Given the description of an element on the screen output the (x, y) to click on. 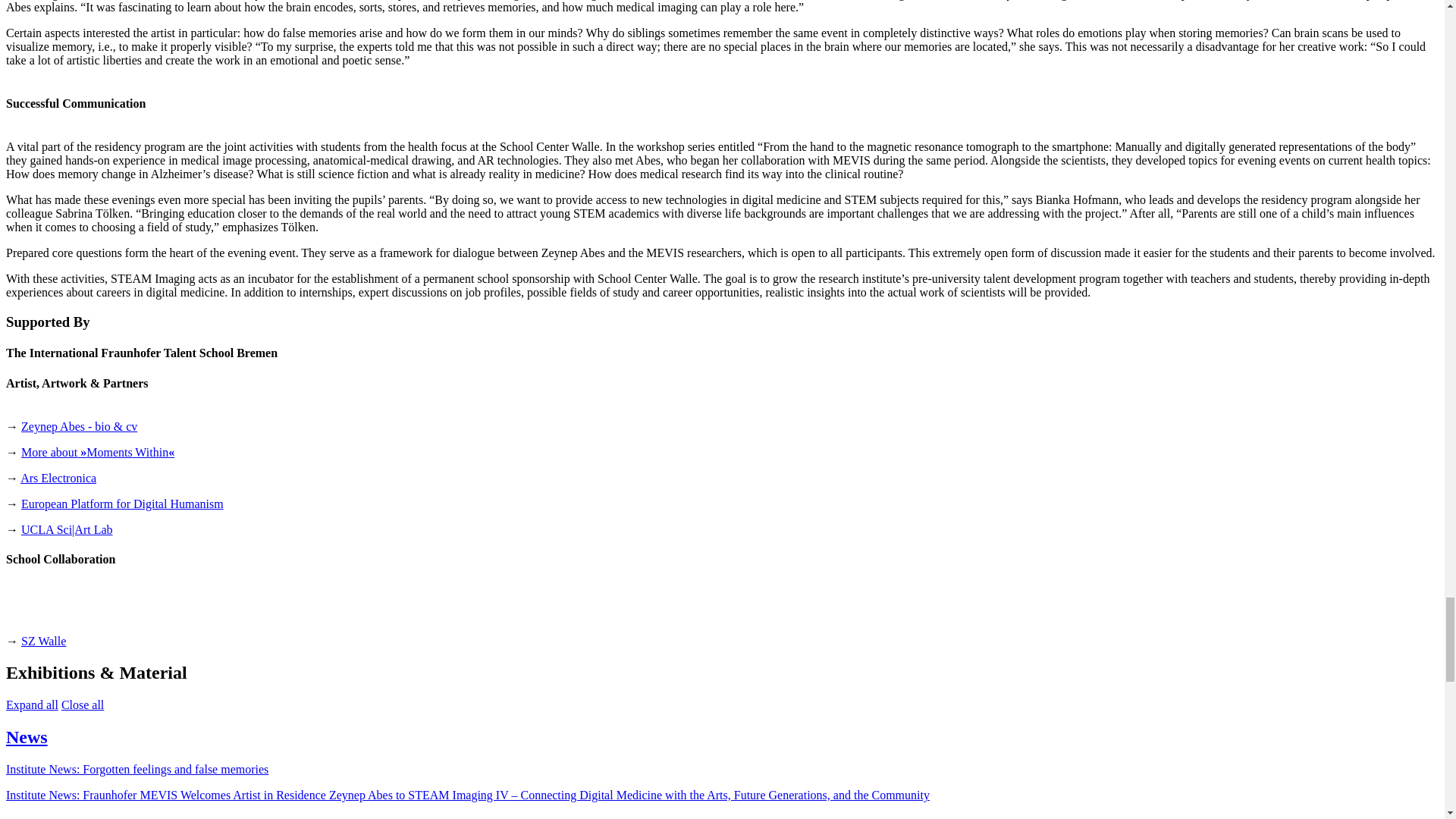
News (26, 736)
